Given the description of an element on the screen output the (x, y) to click on. 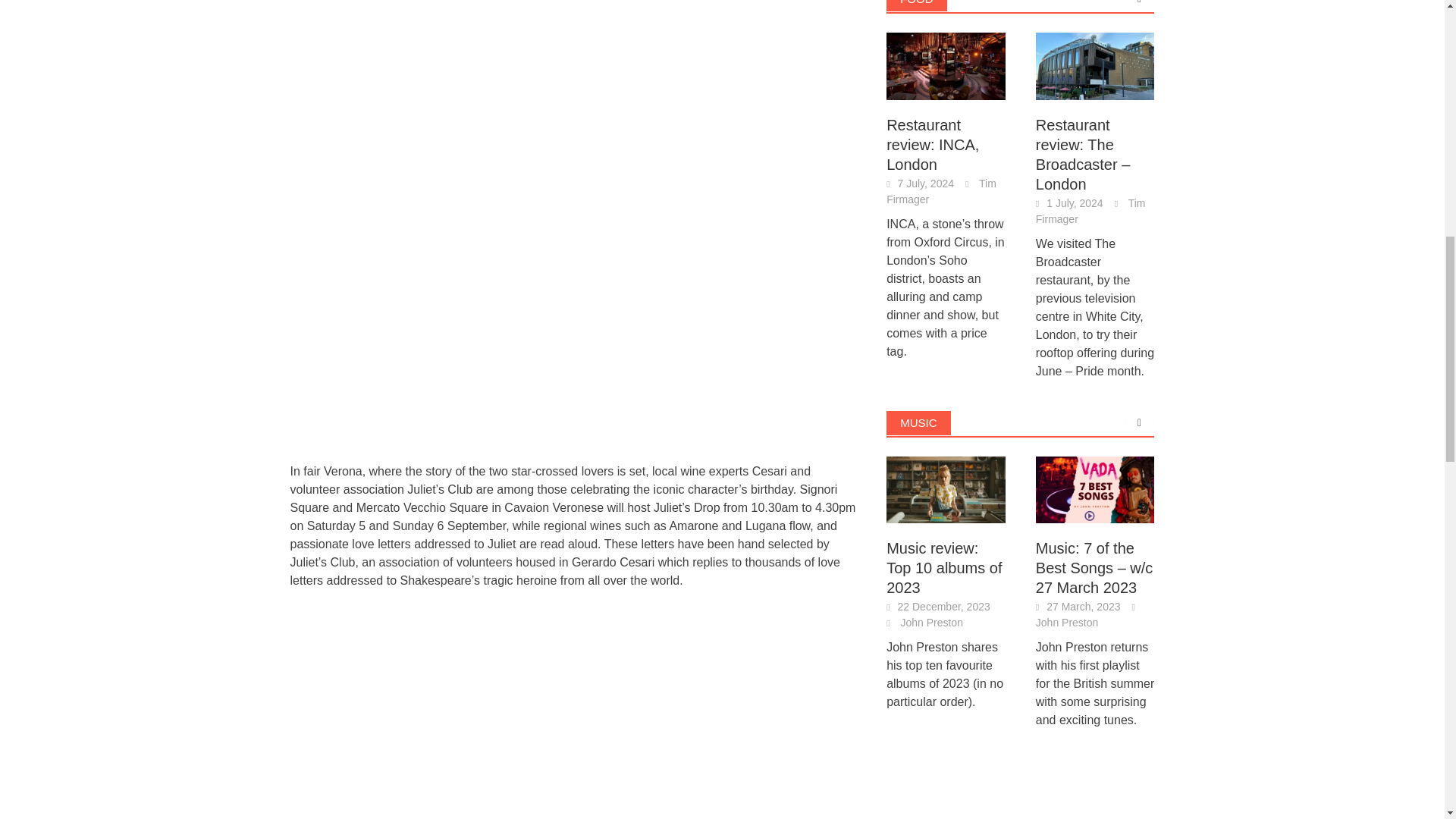
Restaurant review: INCA, London (946, 64)
Music review: Top 10 albums of 2023 (946, 488)
Restaurant review: INCA, London (946, 65)
